Given the description of an element on the screen output the (x, y) to click on. 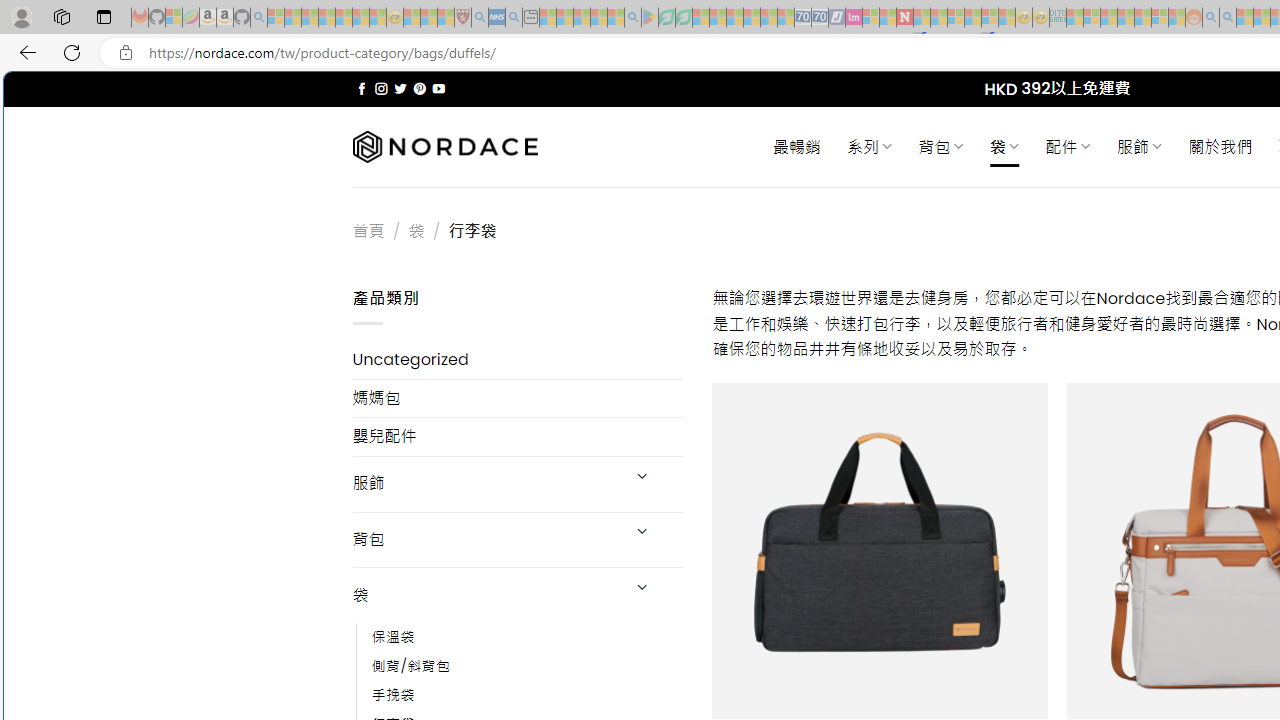
Follow on Twitter (400, 88)
